Given the description of an element on the screen output the (x, y) to click on. 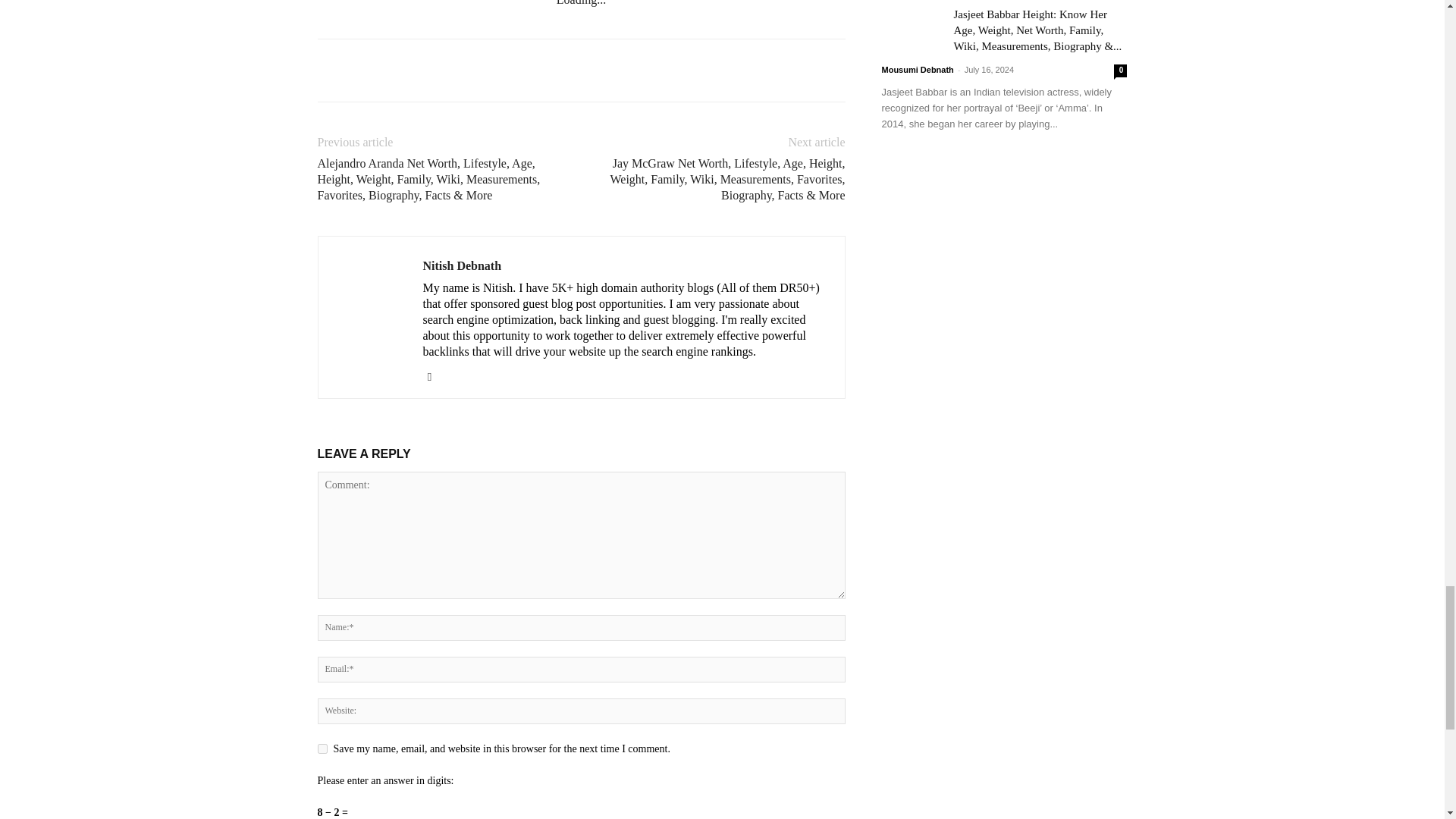
yes (321, 748)
